Given the description of an element on the screen output the (x, y) to click on. 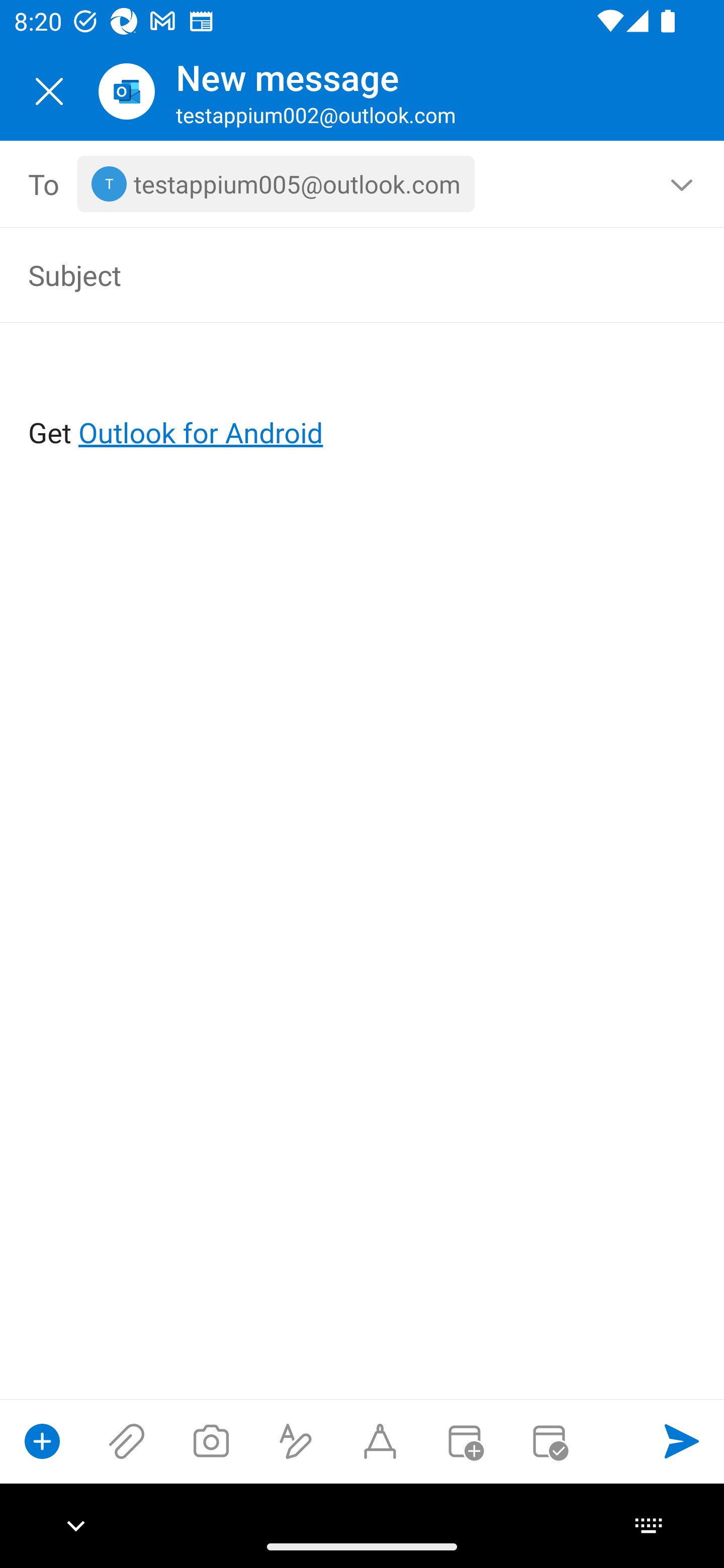
Close (49, 91)
Subject (333, 274)


Get Outlook for Android (363, 400)
Show compose options (42, 1440)
Attach files (126, 1440)
Take a photo (210, 1440)
Show formatting options (295, 1440)
Start Ink compose (380, 1440)
Convert to event (464, 1440)
Send availability (548, 1440)
Send (681, 1440)
